Given the description of an element on the screen output the (x, y) to click on. 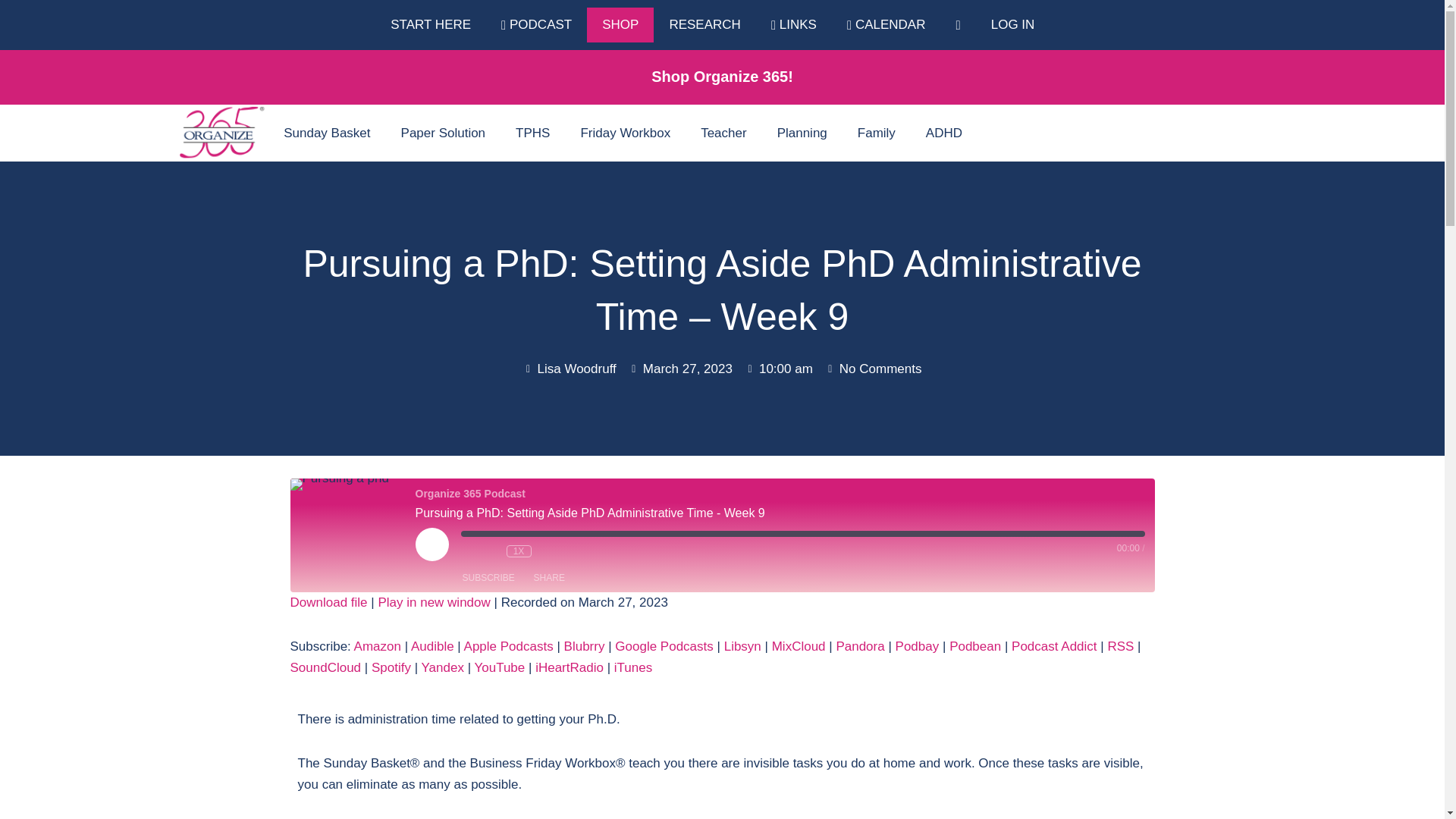
Playback Speed (518, 551)
LOG IN (1012, 24)
Shop Organize 365! (722, 76)
RESEARCH (704, 24)
 CALENDAR (885, 24)
Paper Solution (442, 133)
Subscribe (488, 577)
SHOP (619, 24)
Play (431, 544)
